Given the description of an element on the screen output the (x, y) to click on. 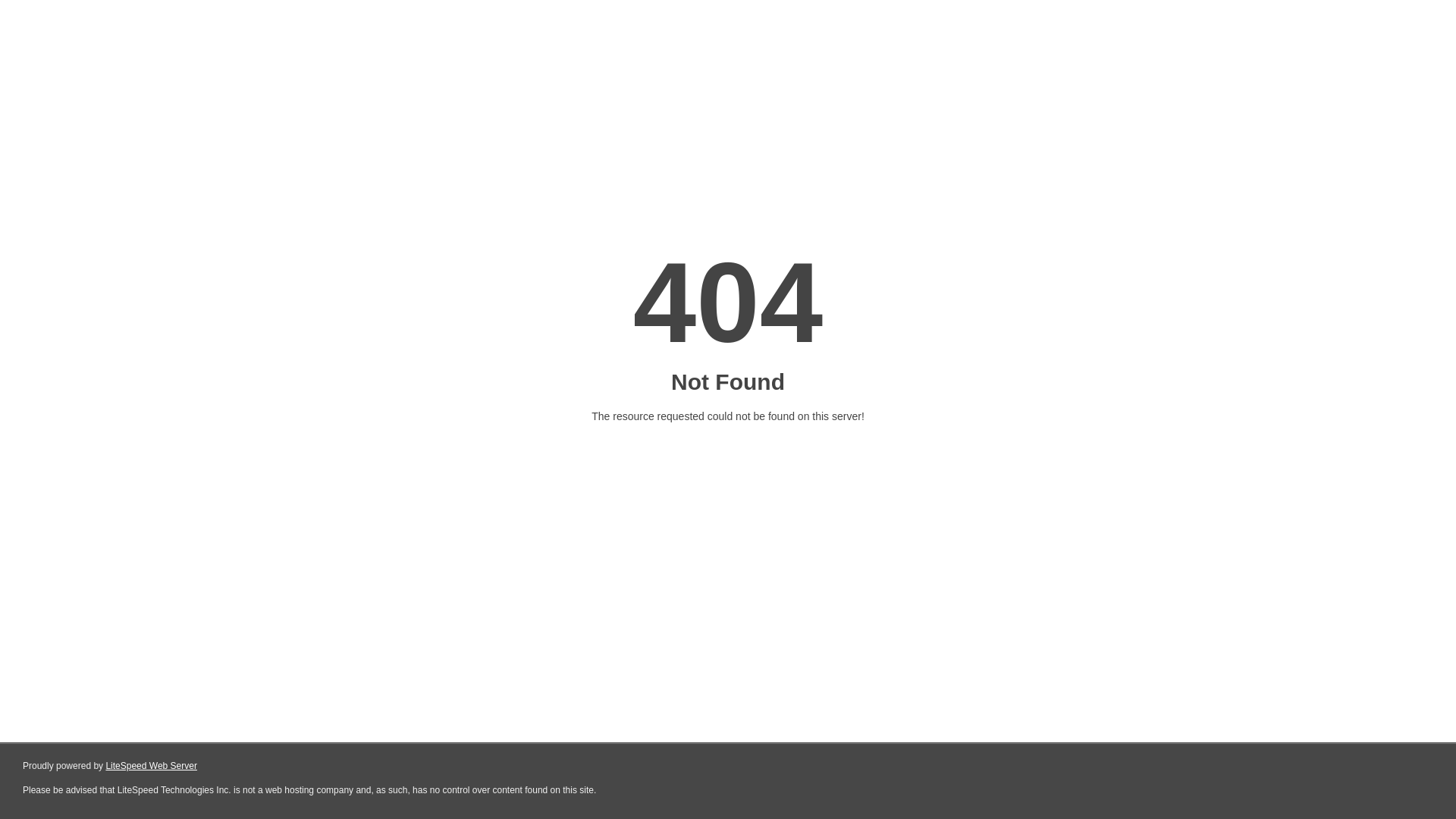
LiteSpeed Web Server Element type: text (151, 765)
